Given the description of an element on the screen output the (x, y) to click on. 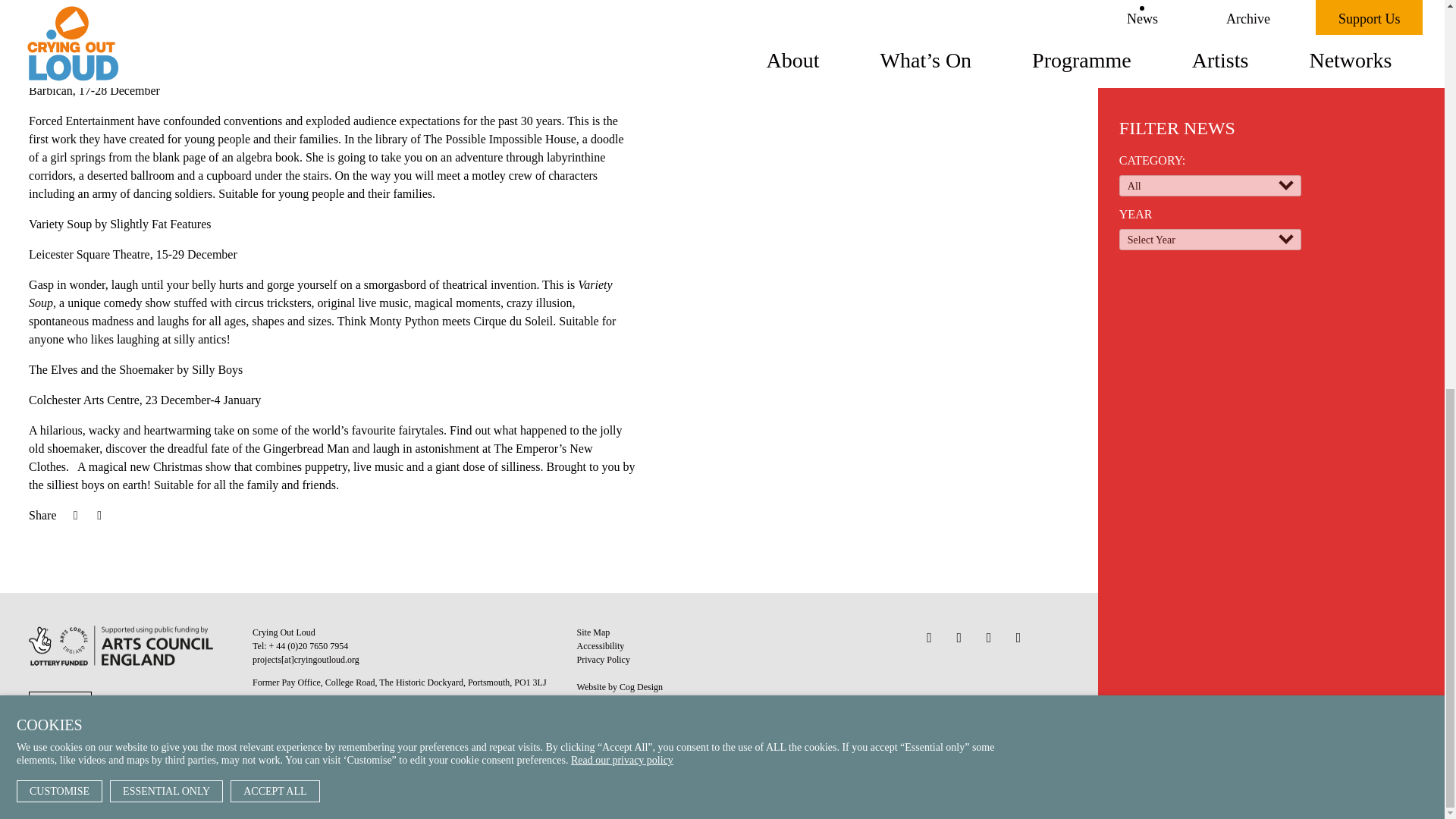
Cog Design (641, 686)
Site Map (593, 632)
Subscribe (447, 739)
ACCEPT ALL (274, 52)
Subscribe (447, 739)
Privacy Policy (603, 659)
ESSENTIAL ONLY (166, 52)
Read our privacy policy (621, 21)
Accessibility (600, 645)
CUSTOMISE (58, 52)
